Given the description of an element on the screen output the (x, y) to click on. 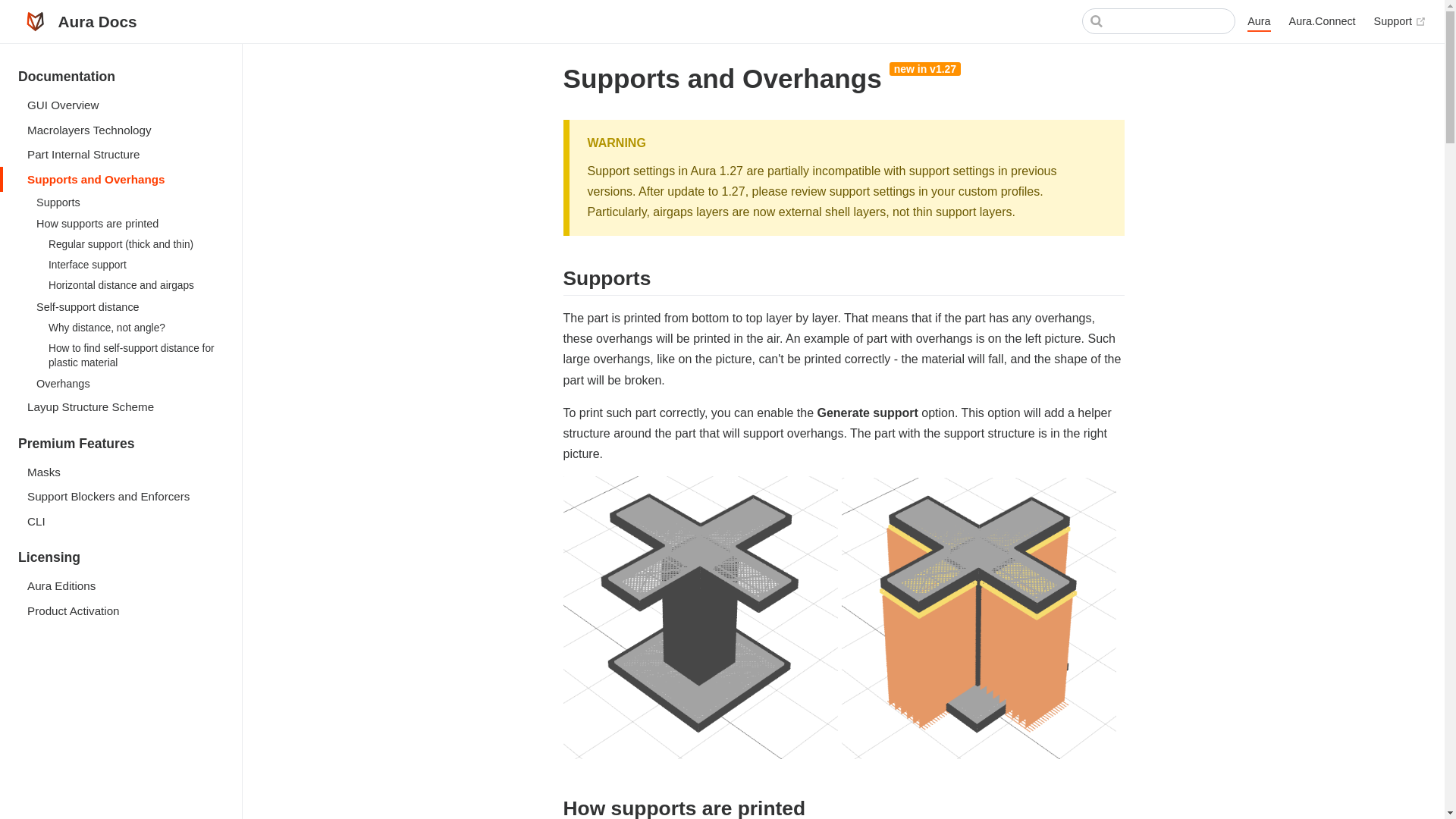
How supports are printed (126, 223)
CLI (120, 520)
Aura.Connect (1321, 21)
Product Activation (120, 610)
Part Internal Structure (120, 154)
Interface support (132, 264)
Horizontal distance and airgaps (132, 285)
Support Blockers and Enforcers (120, 496)
Aura Docs (76, 22)
Aura (1258, 22)
